Given the description of an element on the screen output the (x, y) to click on. 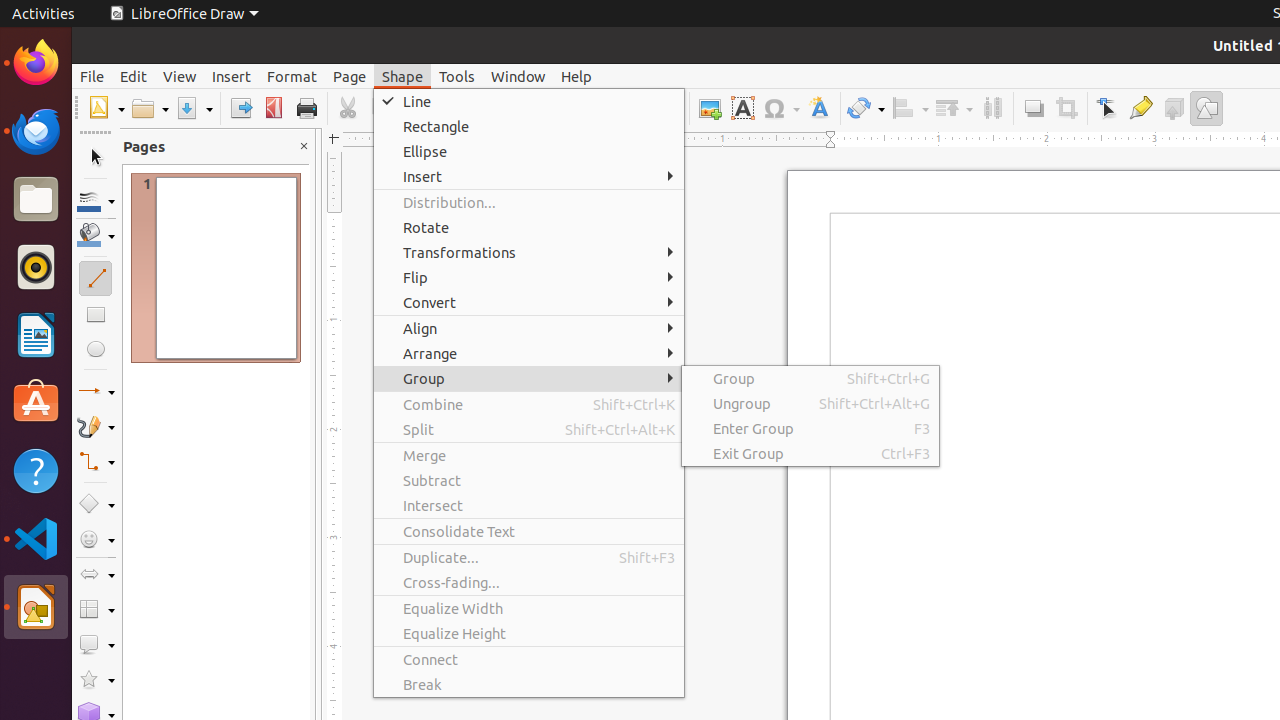
Crop Element type: push-button (1066, 108)
Align Element type: menu (529, 328)
Distribution... Element type: menu-item (529, 202)
Consolidate Text Element type: menu-item (529, 531)
